Given the description of an element on the screen output the (x, y) to click on. 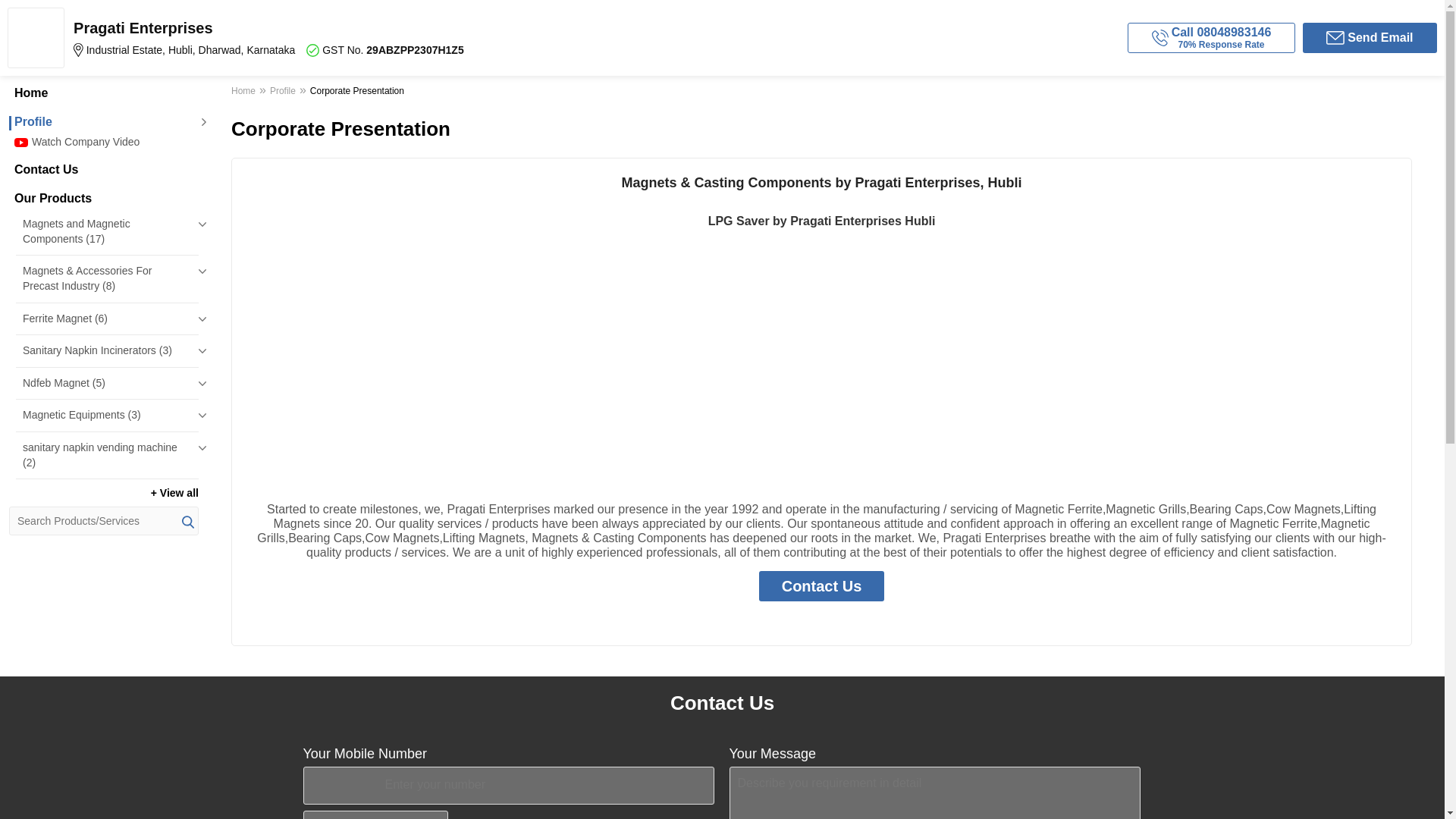
Home (103, 92)
LPG Saver by Pragati Enterprises Hubli (821, 220)
Profile (103, 121)
Twitter Tweet Button (849, 620)
Contact Us (103, 169)
Our Products (103, 198)
